Given the description of an element on the screen output the (x, y) to click on. 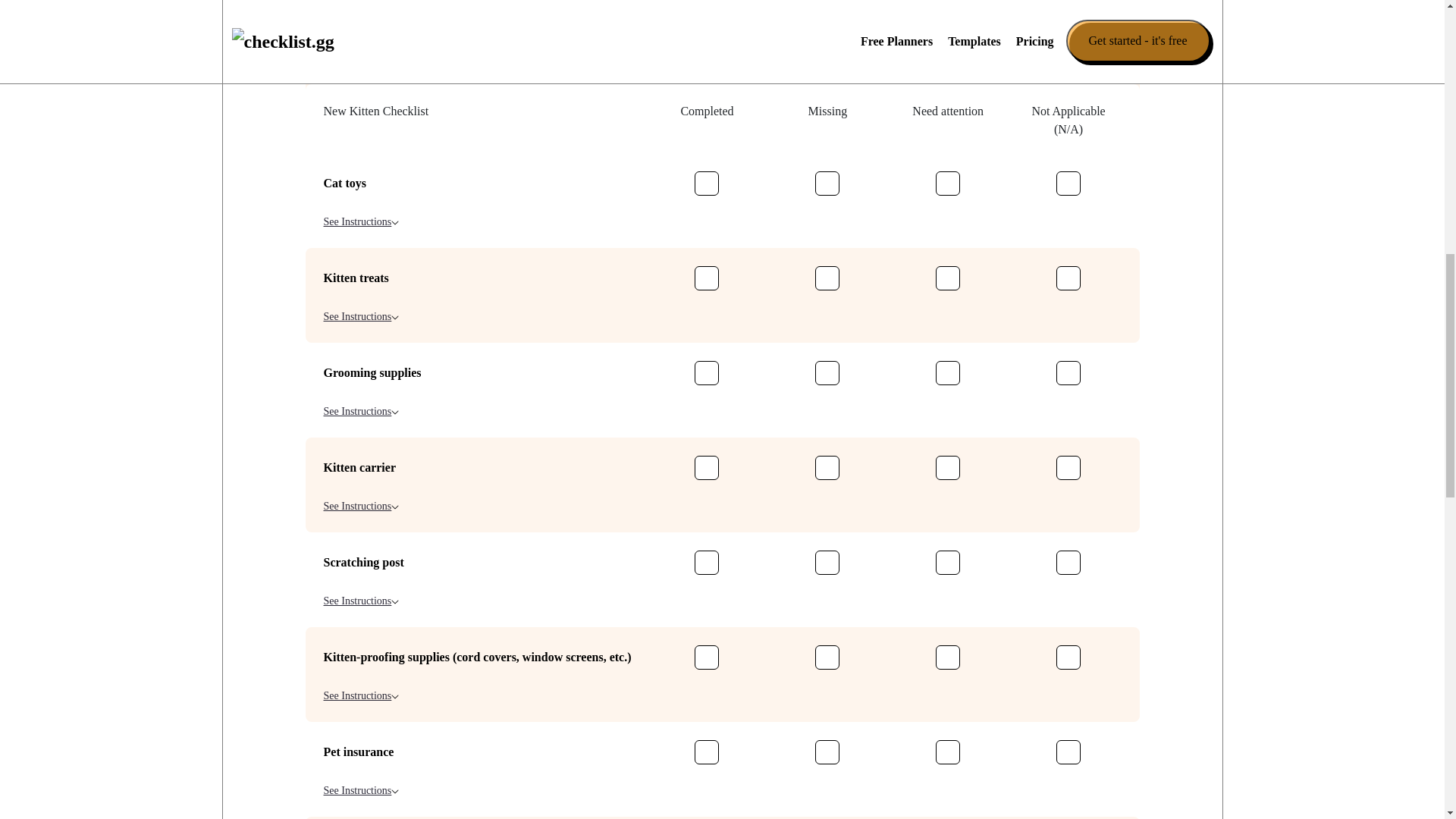
See Instructions (360, 221)
See Instructions (360, 411)
See Instructions (360, 126)
See Instructions (360, 505)
See Instructions (360, 600)
See Instructions (360, 790)
See Instructions (360, 695)
See Instructions (360, 32)
See Instructions (360, 316)
